Given the description of an element on the screen output the (x, y) to click on. 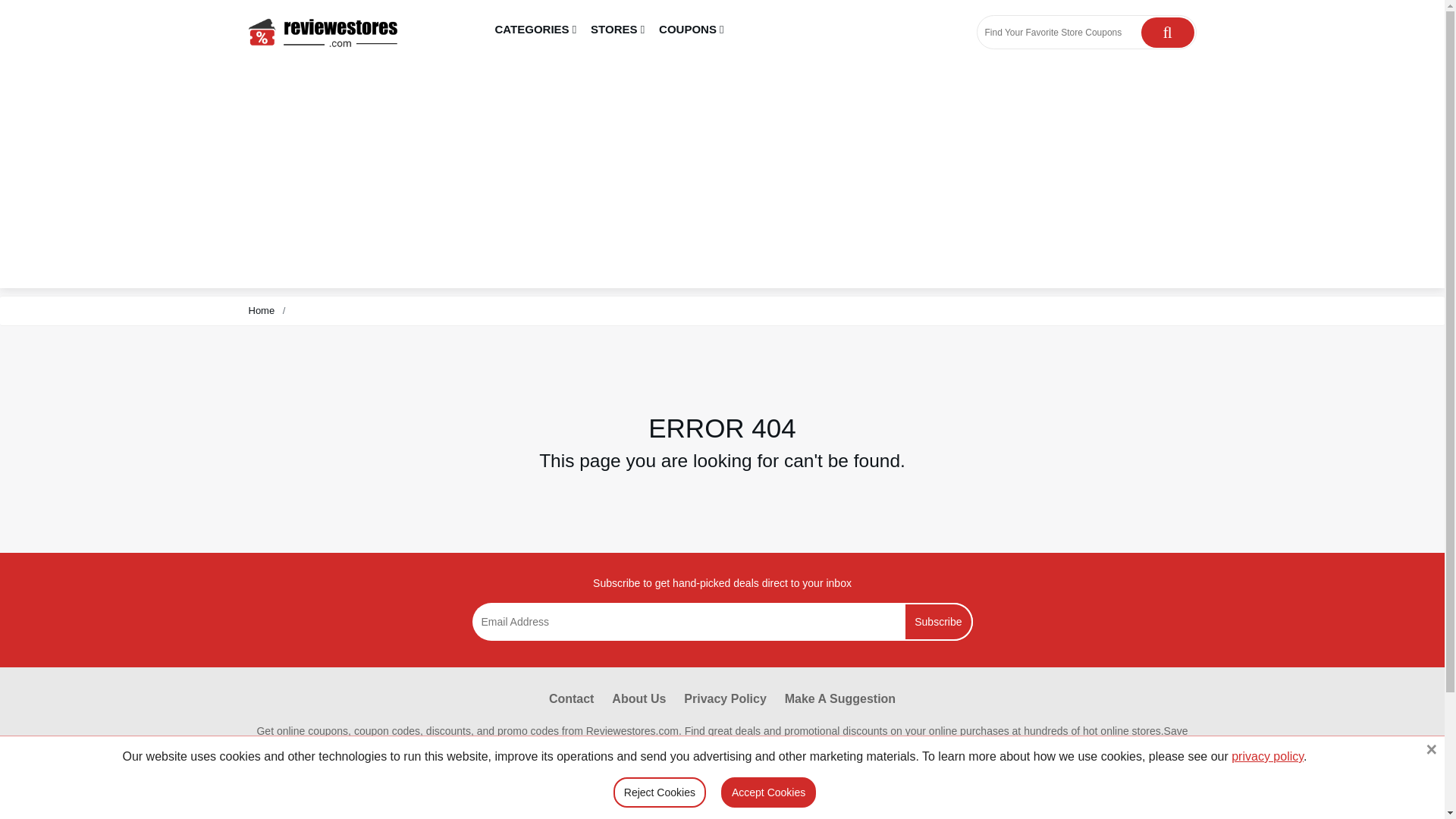
STORES (616, 29)
COUPONS (691, 29)
CATEGORIES (536, 29)
